Given the description of an element on the screen output the (x, y) to click on. 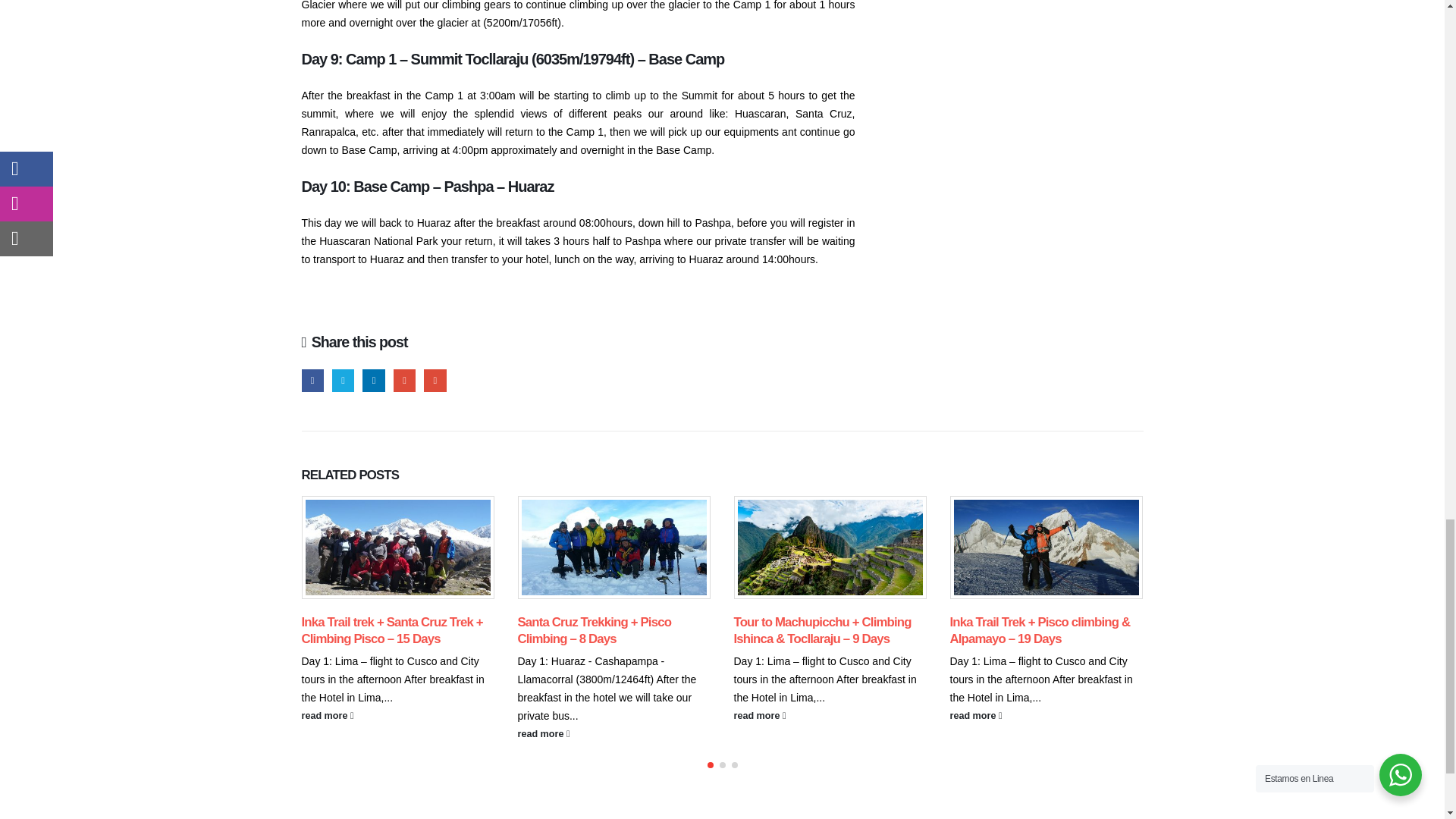
LinkedIn (373, 380)
Email (434, 380)
Twitter (342, 380)
Facebook (312, 380)
